Given the description of an element on the screen output the (x, y) to click on. 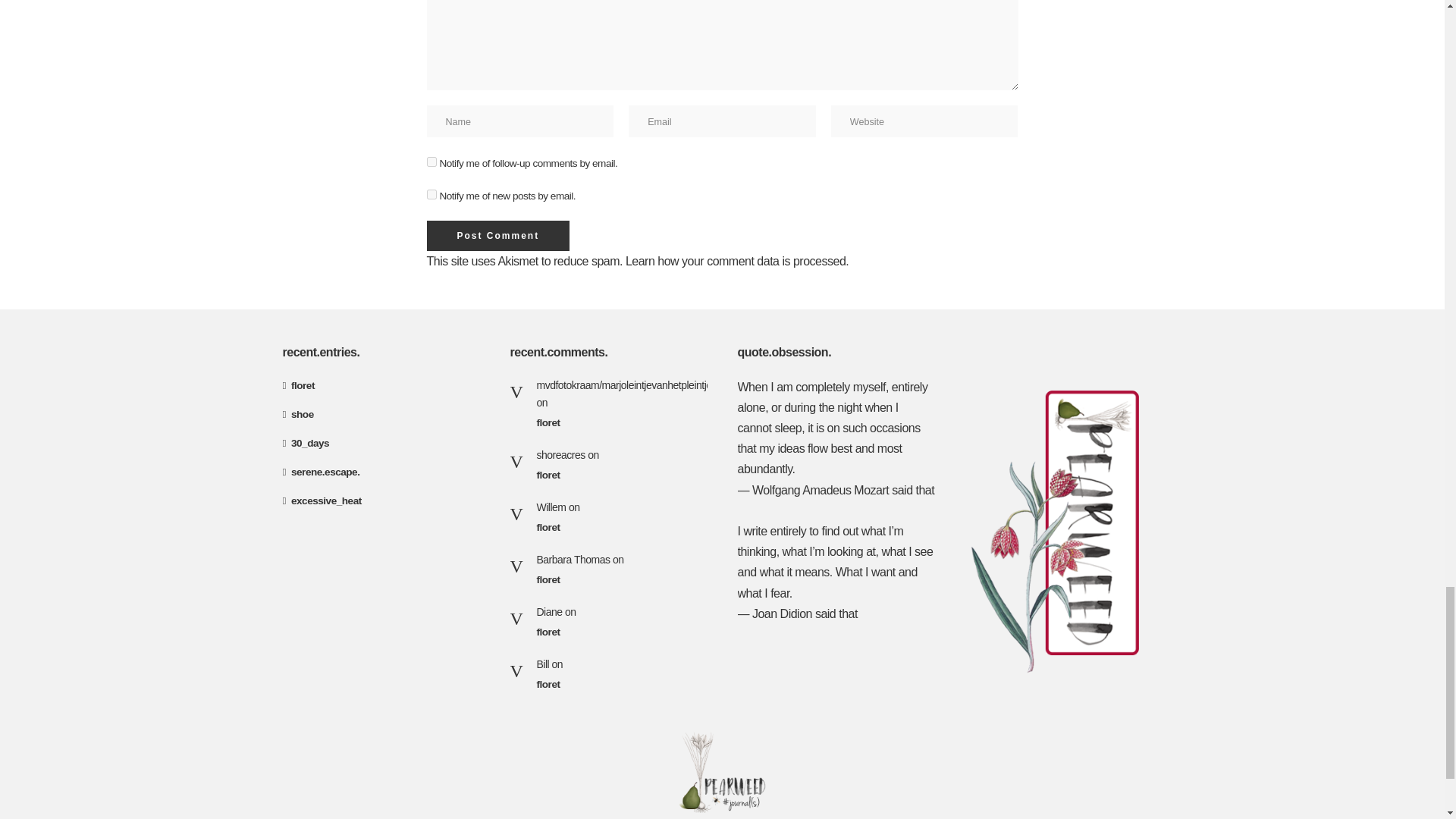
subscribe (430, 194)
subscribe (430, 162)
Post Comment (497, 235)
